Given the description of an element on the screen output the (x, y) to click on. 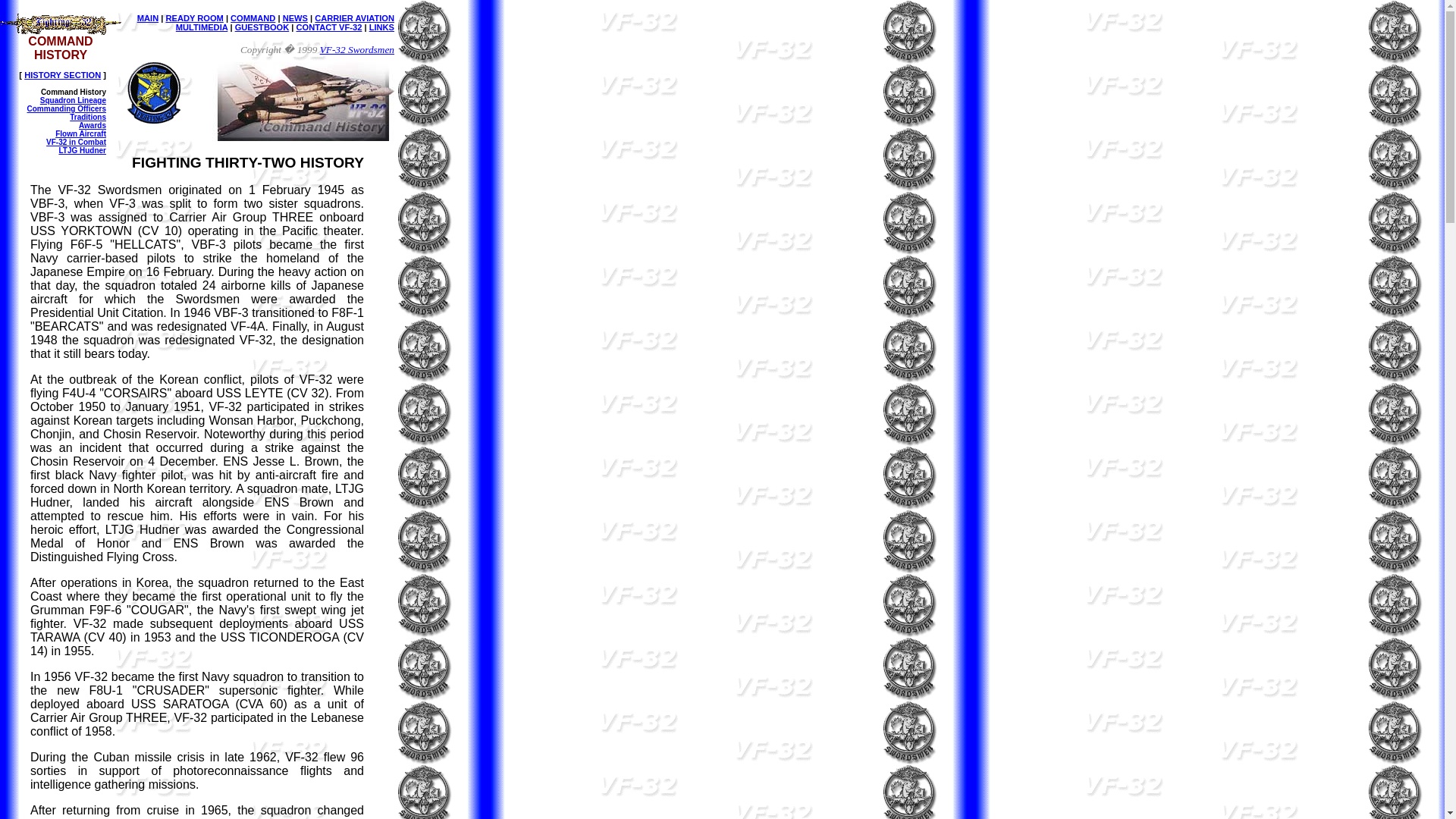
CARRIER AVIATION (354, 17)
MAIN (147, 17)
COMMAND (252, 17)
NEWS (294, 17)
Squadron Lineage (73, 100)
GUESTBOOK (261, 26)
READY ROOM (193, 17)
Commanding Officers (66, 108)
Flown Aircraft (80, 133)
CONTACT VF-32 (329, 26)
VF-32 in Combat (76, 142)
Awards (92, 125)
HISTORY SECTION (62, 74)
VF-32 Swordsmen (357, 49)
LTJG Hudner (82, 150)
